Given the description of an element on the screen output the (x, y) to click on. 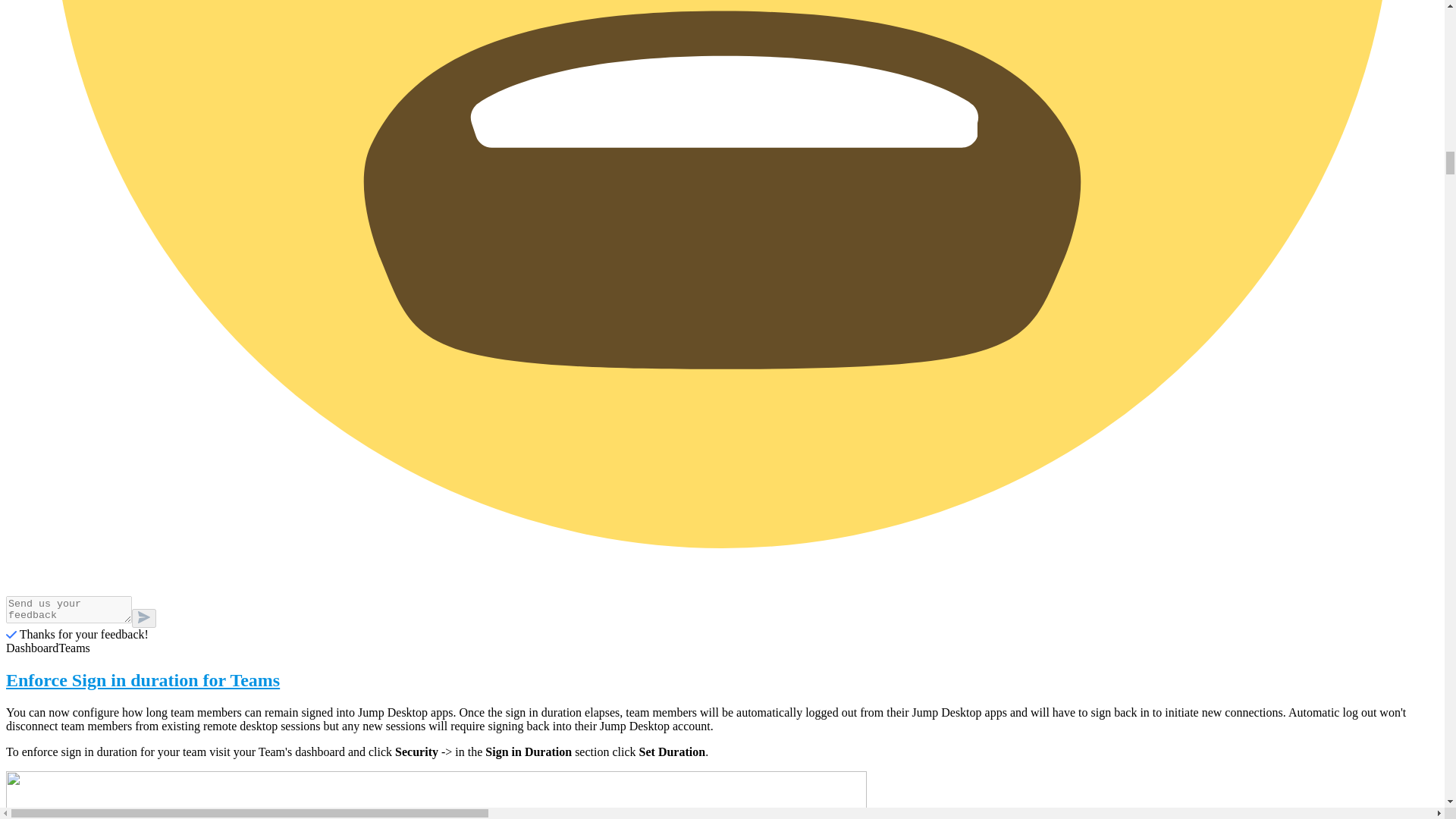
Submit Button (143, 618)
Enforce Sign in duration for Teams (721, 680)
